Given the description of an element on the screen output the (x, y) to click on. 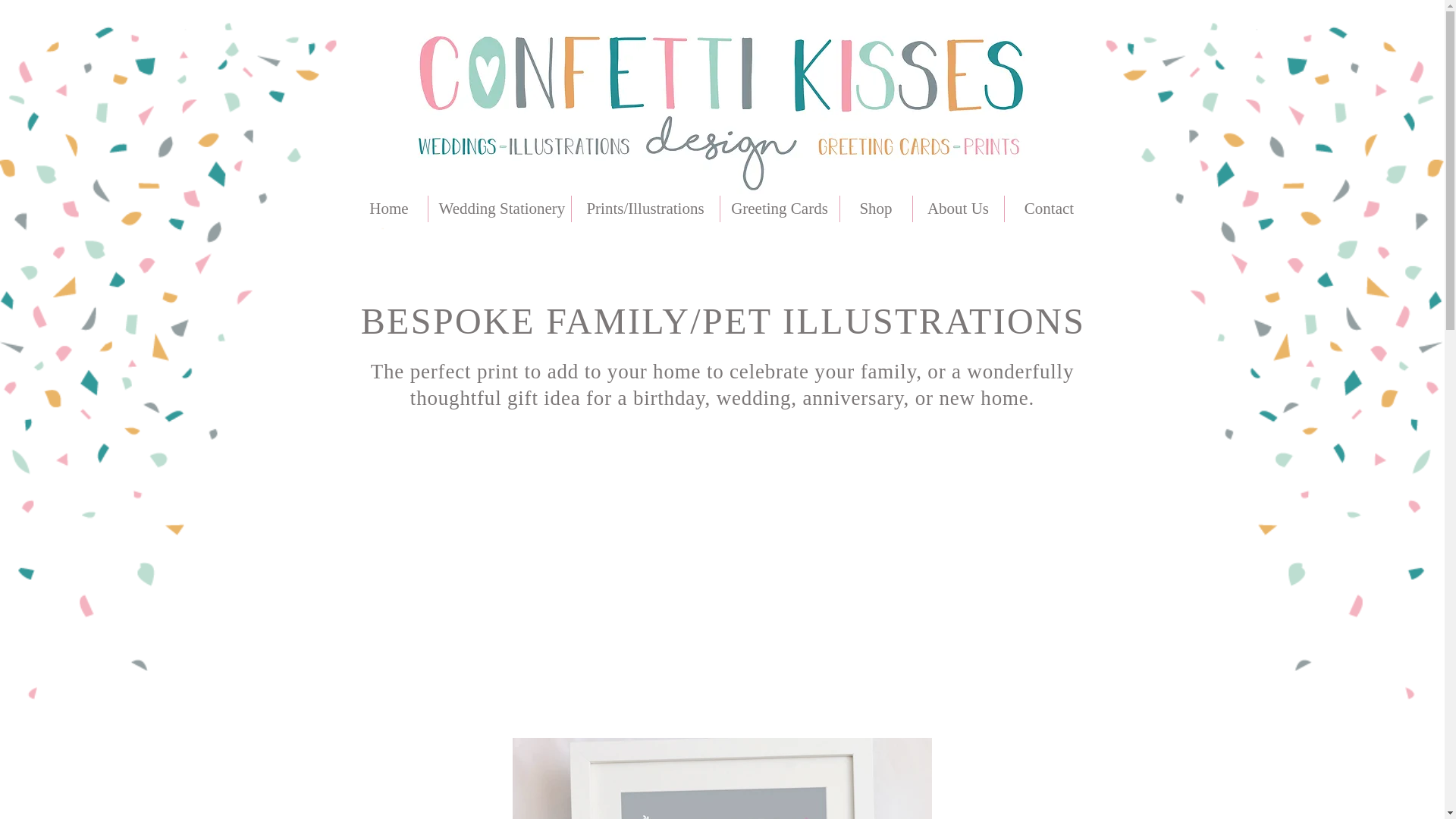
About Us (958, 208)
Home (388, 208)
Shop (876, 208)
Contact (1048, 208)
Wedding Stationery (499, 208)
Greeting Cards (780, 208)
